Given the description of an element on the screen output the (x, y) to click on. 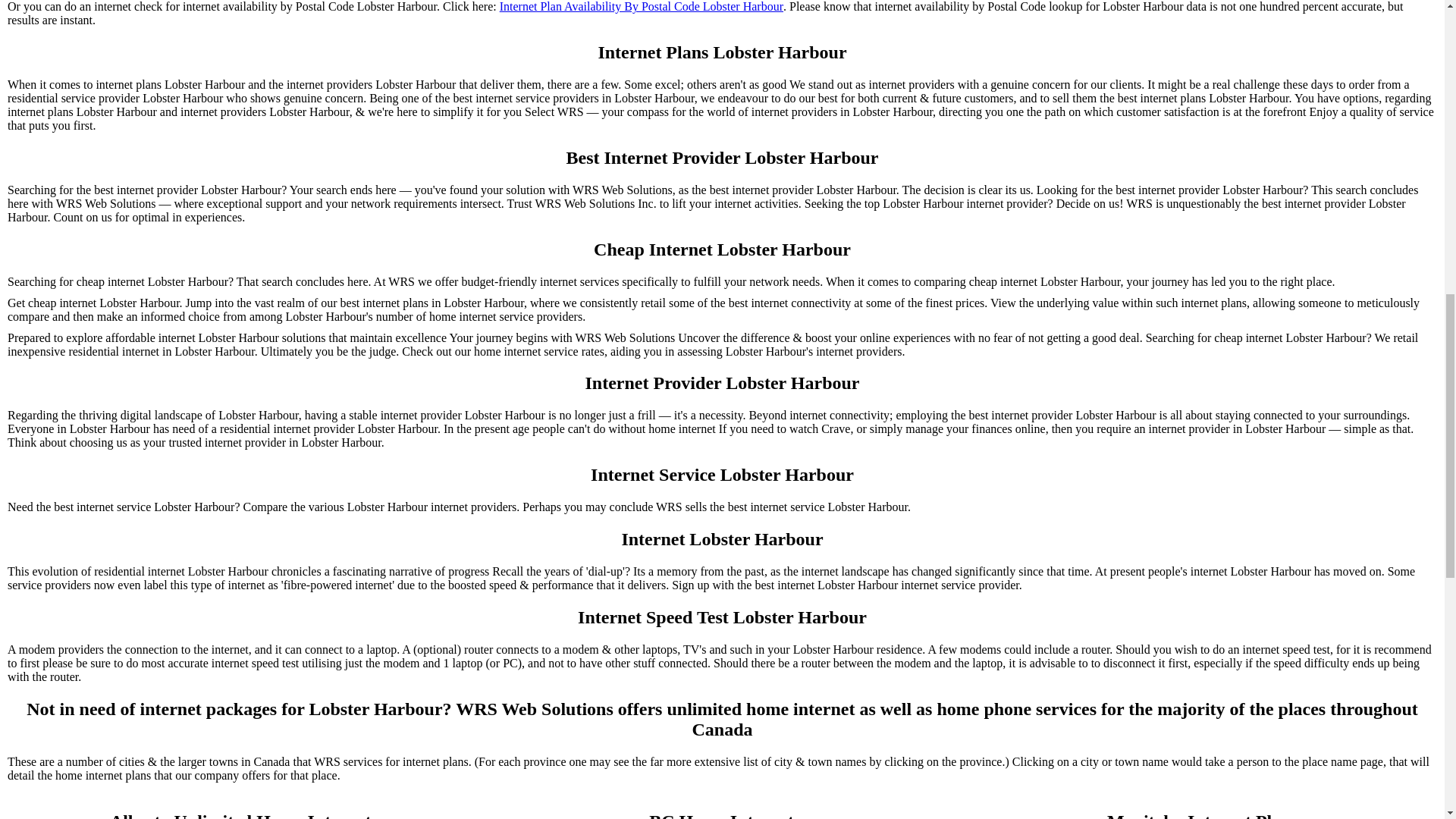
BC Home Internet (721, 815)
Internet Plan Availability By Postal Code Lobster Harbour (641, 6)
Alberta Unlimited Home Internet (240, 815)
